Given the description of an element on the screen output the (x, y) to click on. 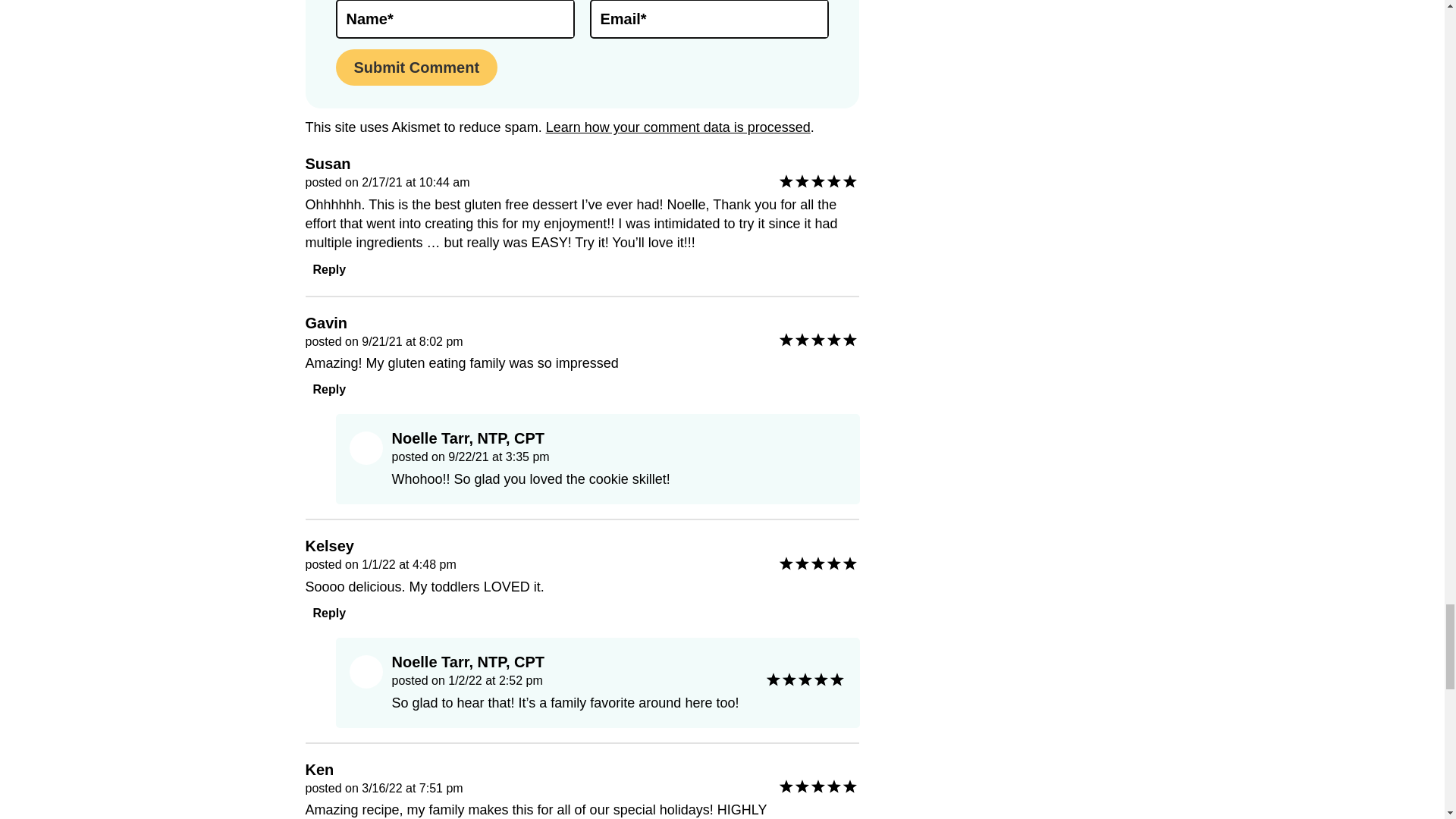
Submit Comment (415, 67)
